Given the description of an element on the screen output the (x, y) to click on. 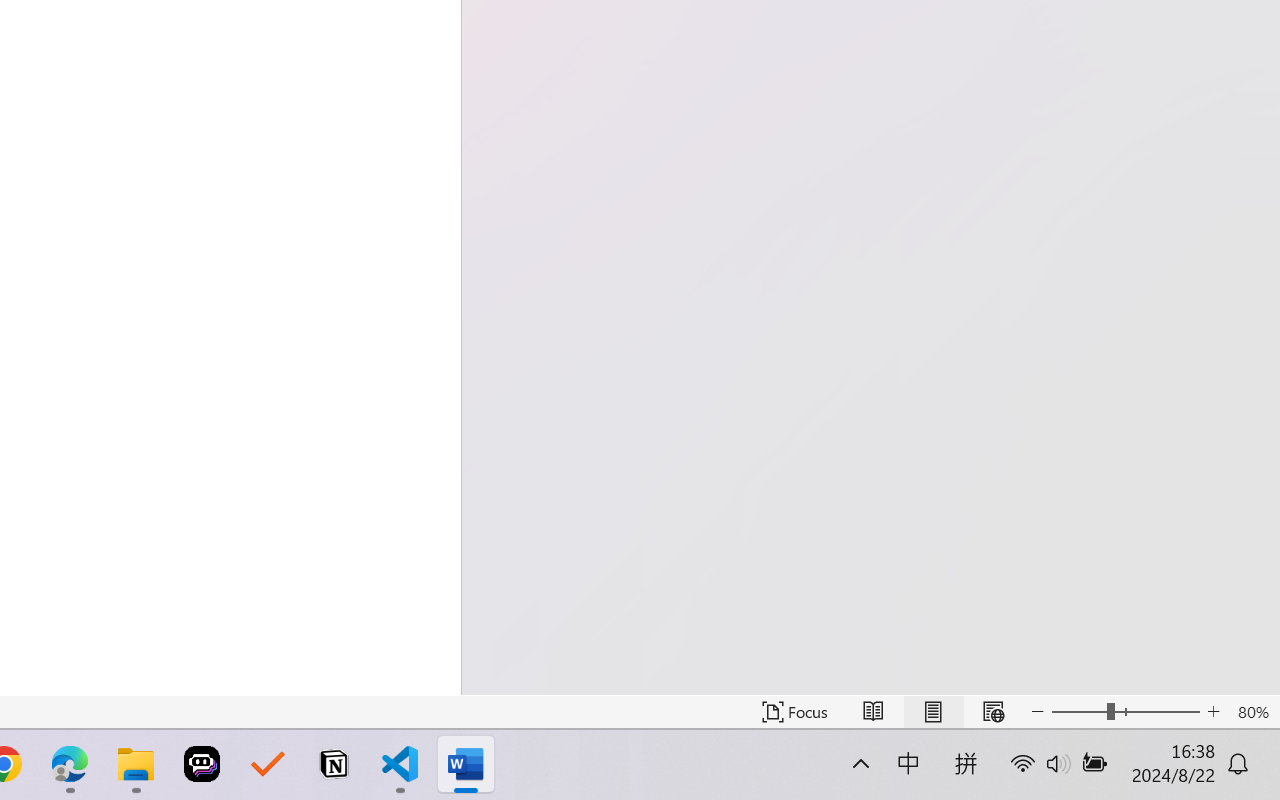
Zoom 80% (1253, 712)
